Given the description of an element on the screen output the (x, y) to click on. 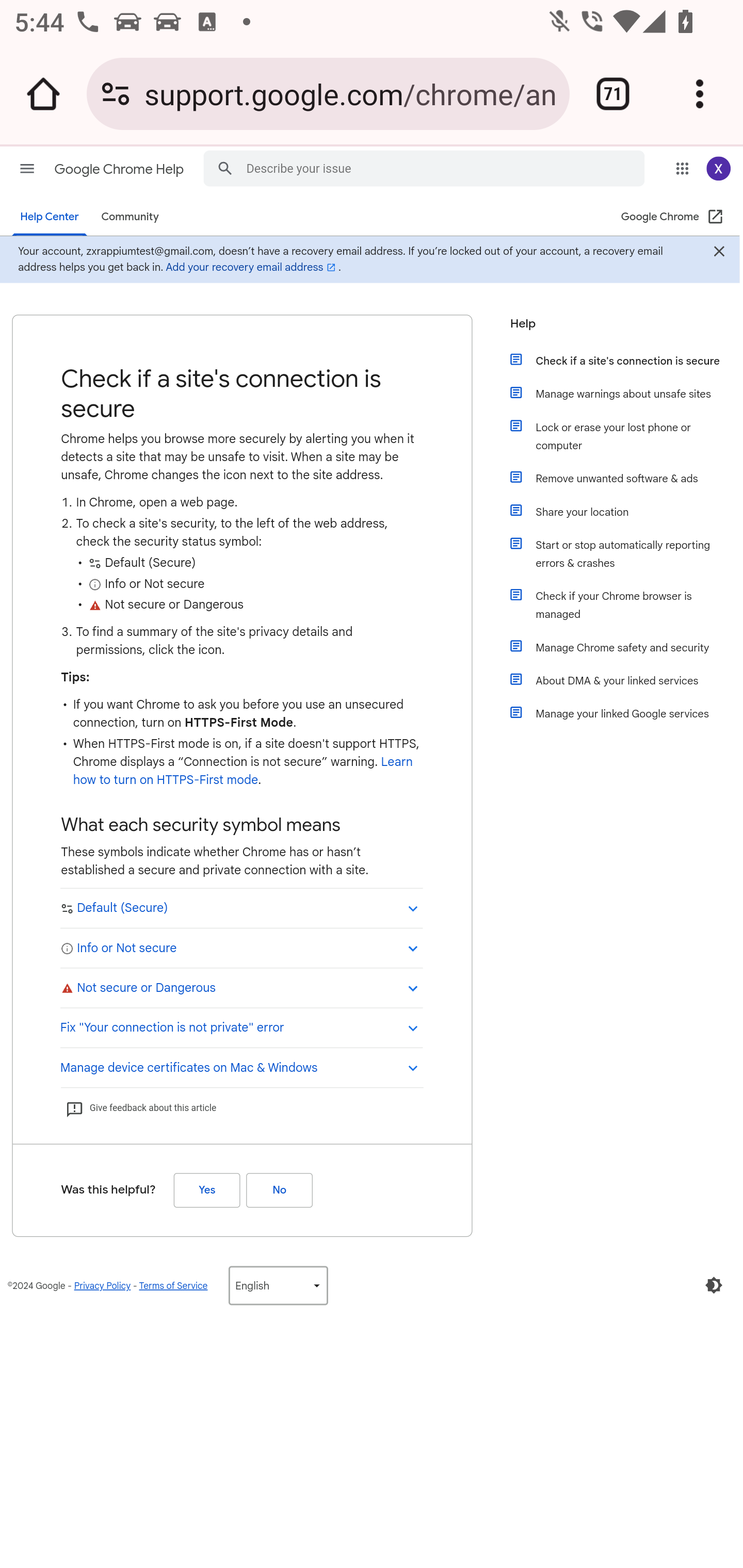
Open the home page (43, 93)
Connection is secure (115, 93)
Switch or close tabs (612, 93)
Customize and control Google Chrome (699, 93)
Main menu (27, 168)
Google Chrome Help (120, 169)
Search Help Center (224, 167)
Google apps (681, 168)
Google Account: Xiaoran (zxrappiumtest@gmail.com) (718, 168)
Help Center (48, 217)
Community (129, 217)
Google Chrome (Open in a new window) Google Chrome (672, 217)
Close (718, 252)
Add your recovery email address (251, 267)
Help Help Help (618, 328)
Check if a site's connection is secure (626, 360)
Manage warnings about unsafe sites (626, 393)
Lock or erase your lost phone or computer (626, 436)
Remove unwanted software & ads (626, 477)
Share your location (626, 511)
Check if your Chrome browser is managed (626, 604)
Manage Chrome safety and security (626, 647)
About DMA & your linked services (626, 680)
Manage your linked Google services (626, 713)
Learn how to turn on HTTPS-First mode (242, 770)
Default (Secure) Default (Secure) (240, 907)
View site information Info or Not secure (240, 946)
Dangerous Not secure or Dangerous (240, 987)
Fix "Your connection is not private" error (240, 1026)
Manage device certificates on Mac & Windows (240, 1065)
Give feedback about this article (140, 1107)
Yes (Was this helpful?) (206, 1189)
No (Was this helpful?) (278, 1189)
Language (English‎) (277, 1284)
Enable Dark Mode (713, 1284)
Privacy Policy (101, 1285)
Terms of Service (173, 1285)
